Given the description of an element on the screen output the (x, y) to click on. 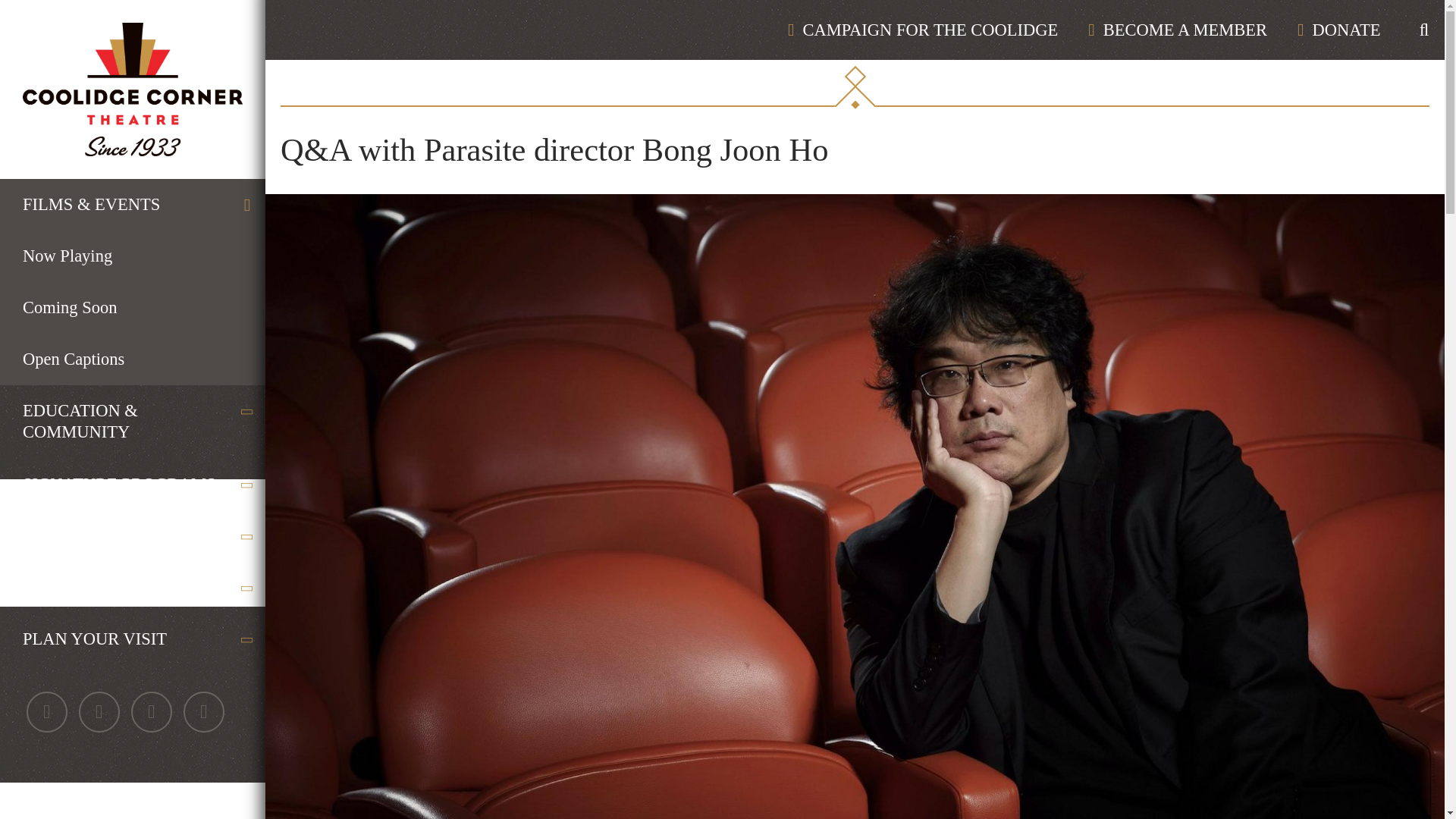
Open Captions (132, 358)
Check out thecoolidge on facebook (46, 711)
Check out thecoolidge on instagram (151, 711)
SIGNATURE PROGRAMS (132, 484)
SUPPORT US (132, 535)
Coming Soon (132, 307)
Check out thecoolidge on youtube (203, 711)
Now Playing (132, 255)
Check out thecoolidge on twitter (98, 711)
